Given the description of an element on the screen output the (x, y) to click on. 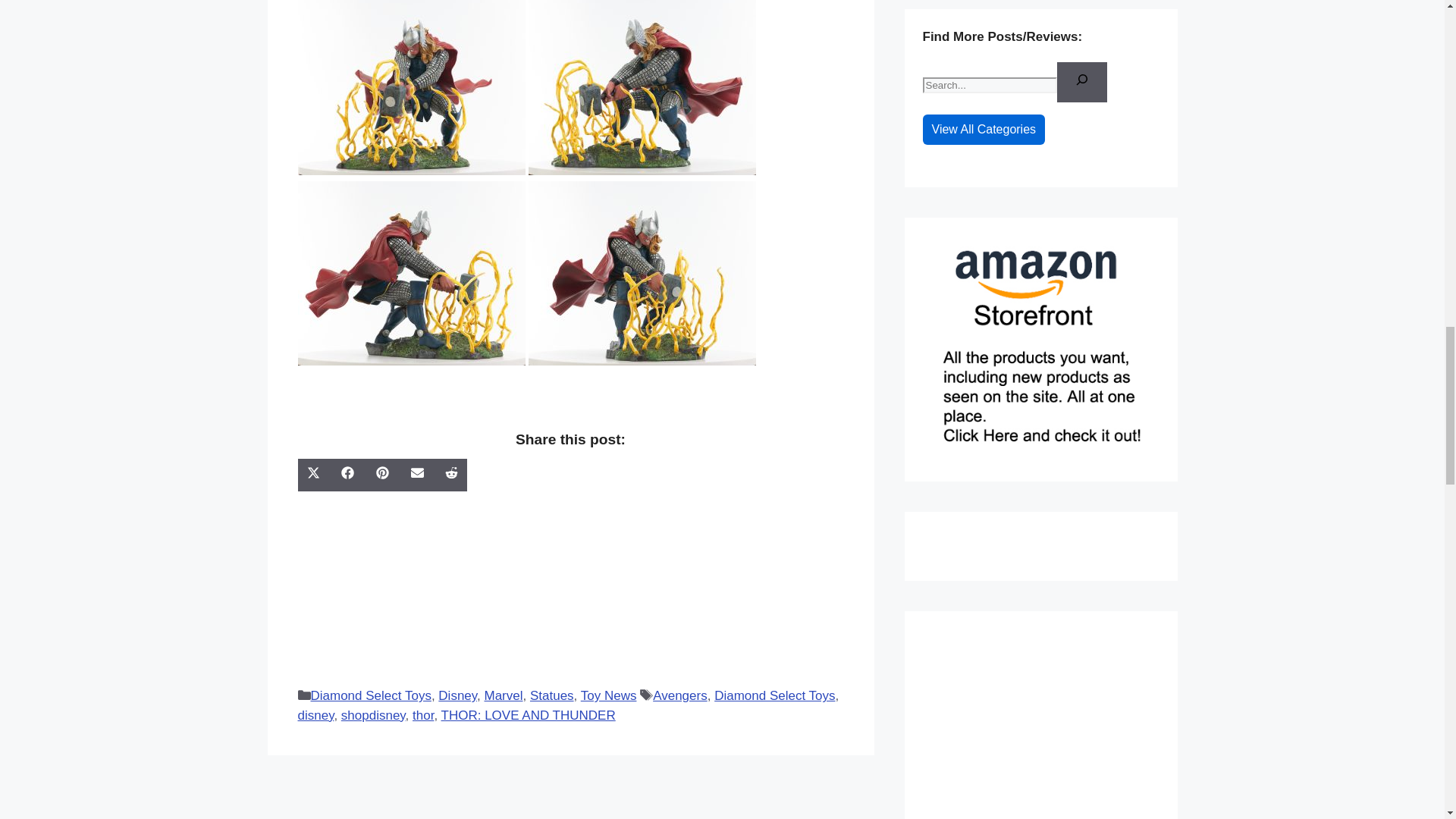
Share on Pinterest (383, 474)
Share on Facebook (348, 474)
Share on Email (418, 474)
